Given the description of an element on the screen output the (x, y) to click on. 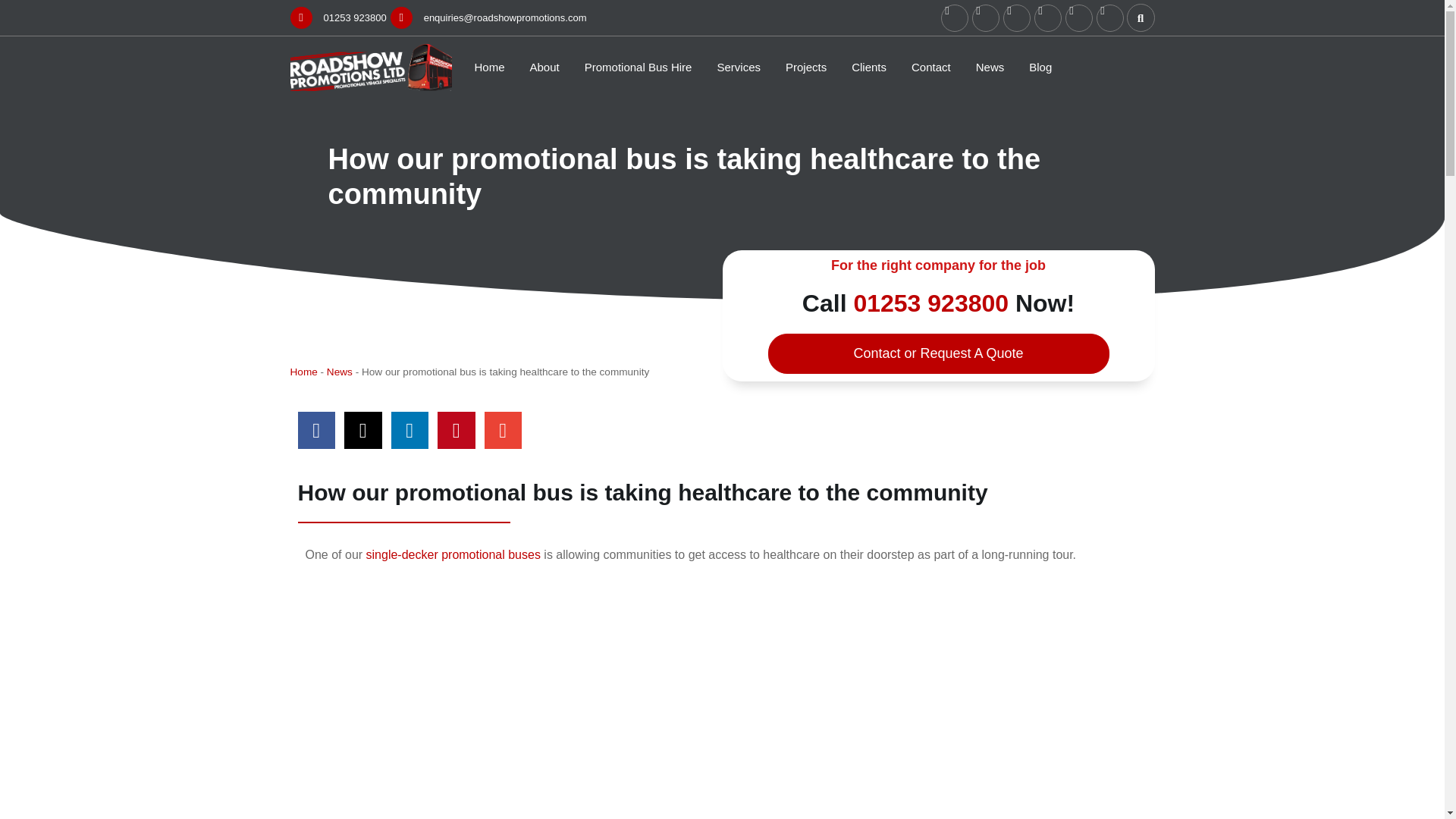
Projects (806, 67)
Contact (930, 67)
News (989, 67)
Youtube (1016, 17)
Home (489, 67)
Pinterest (1047, 17)
Linkedin (1078, 17)
Clients (868, 67)
Facebook (954, 17)
Promotional Bus Hire (639, 67)
Services (738, 67)
About (544, 67)
Blog (1040, 67)
Twitter (985, 17)
Flickr (1110, 17)
